Given the description of an element on the screen output the (x, y) to click on. 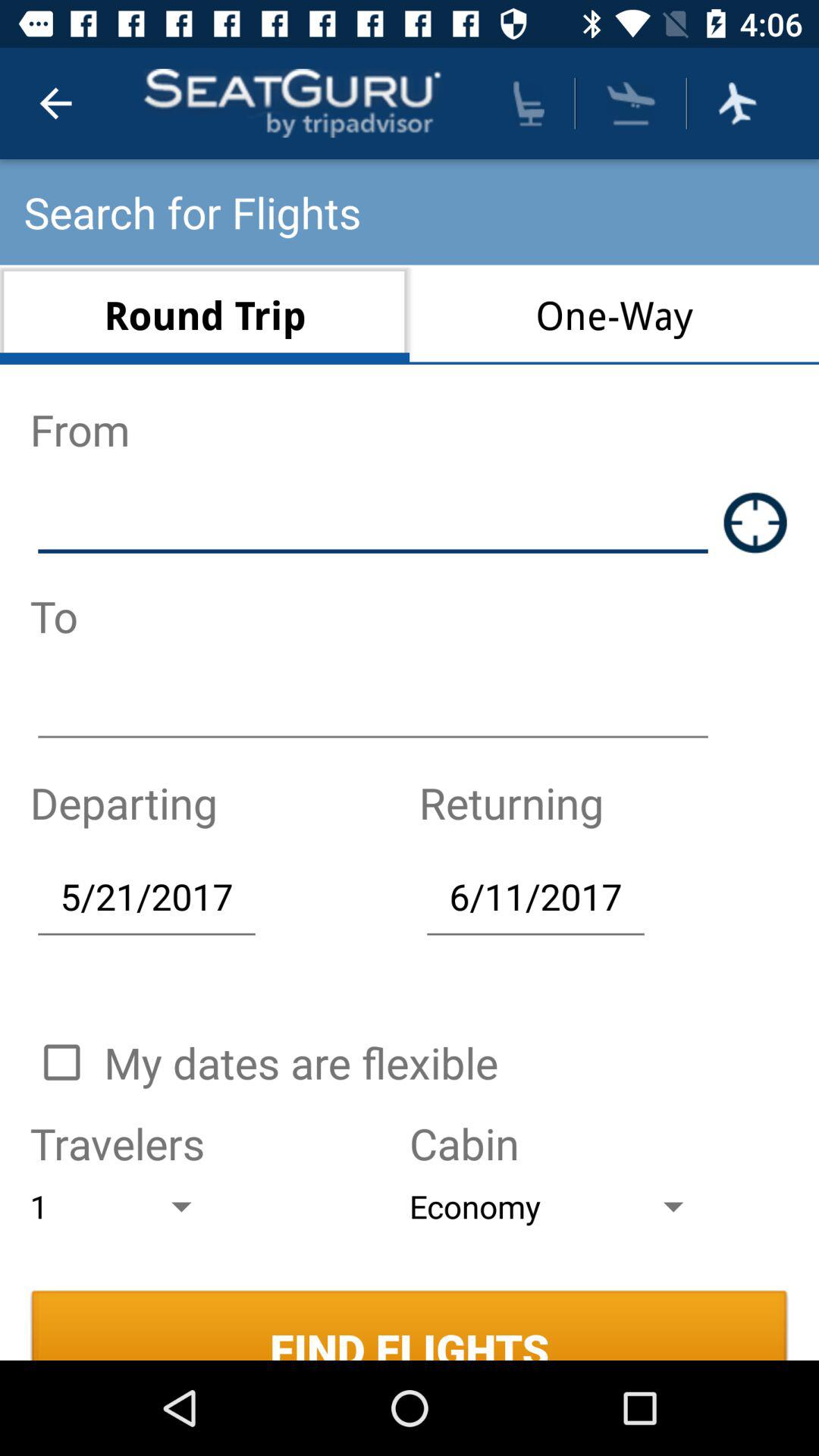
check-box (61, 1062)
